Given the description of an element on the screen output the (x, y) to click on. 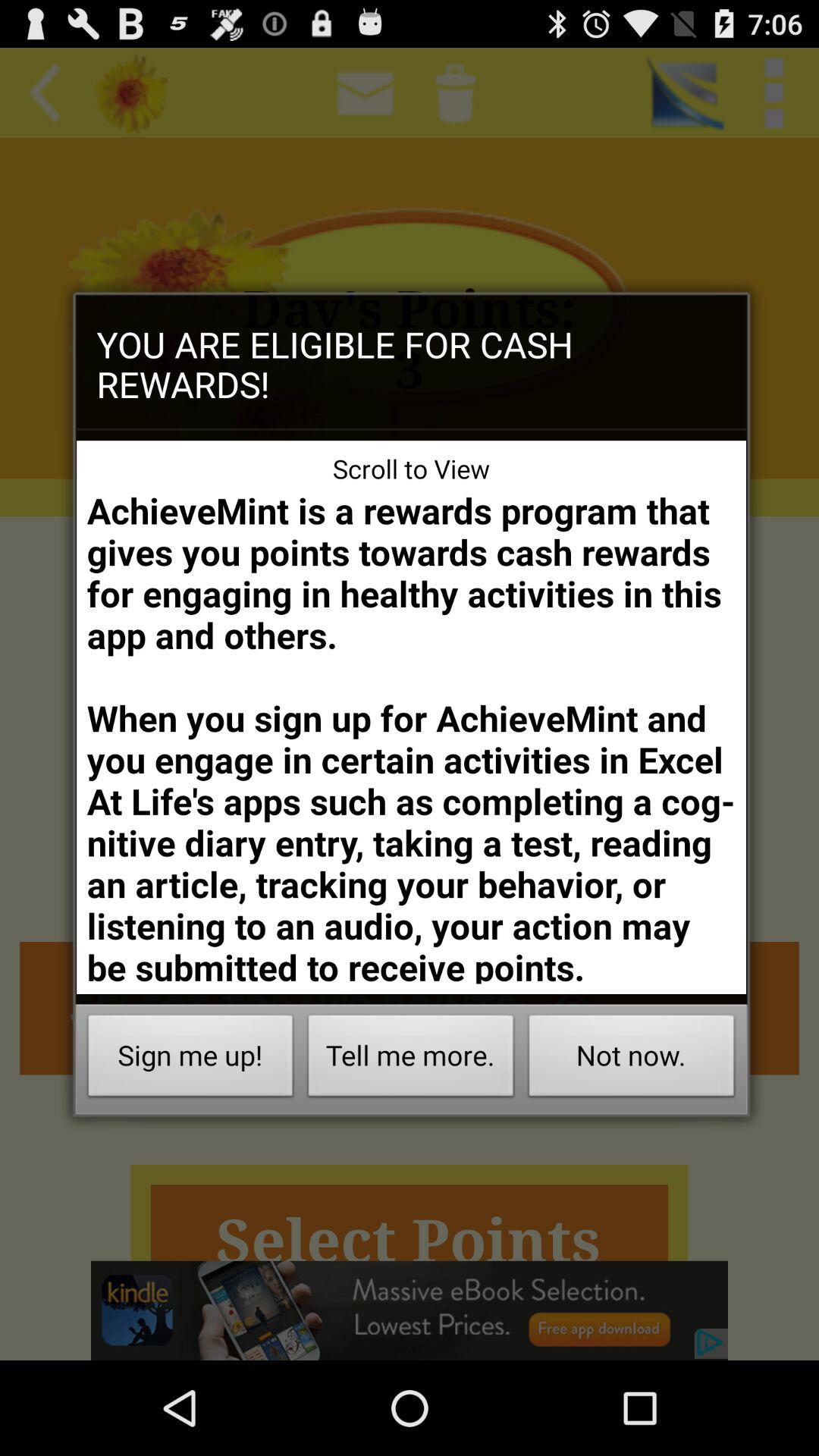
select the item next to tell me more. (631, 1059)
